Given the description of an element on the screen output the (x, y) to click on. 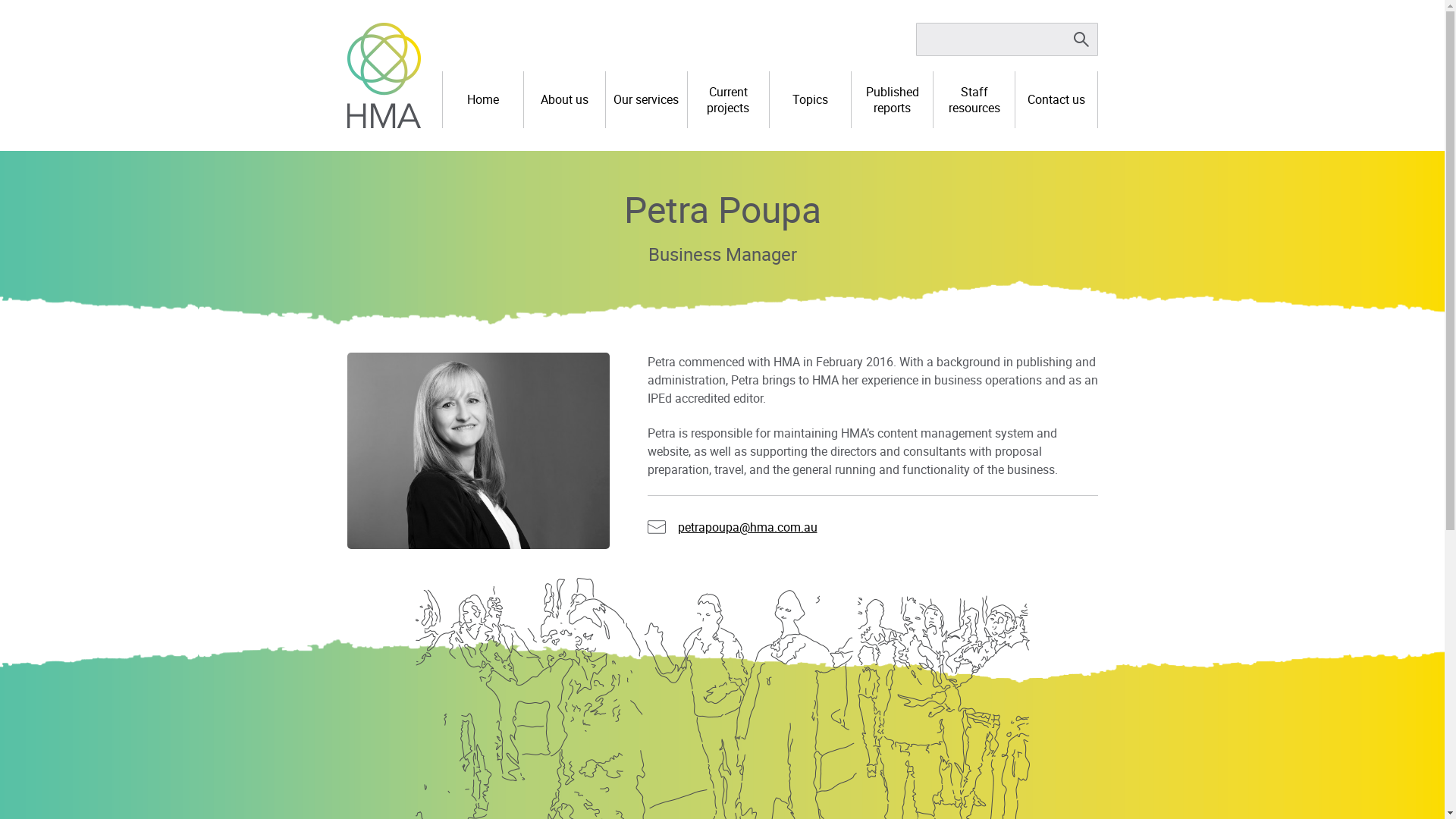
HMA_Petra11842-2B&Wlowres Element type: hover (478, 450)
Topics Element type: text (809, 99)
About us Element type: text (564, 99)
petrapoupa@hma.com.au Element type: text (747, 526)
Staff resources Element type: text (973, 99)
Contact us Element type: text (1055, 99)
Home Element type: text (482, 99)
Published reports Element type: text (891, 99)
Our services Element type: text (646, 99)
Current projects Element type: text (727, 99)
